Given the description of an element on the screen output the (x, y) to click on. 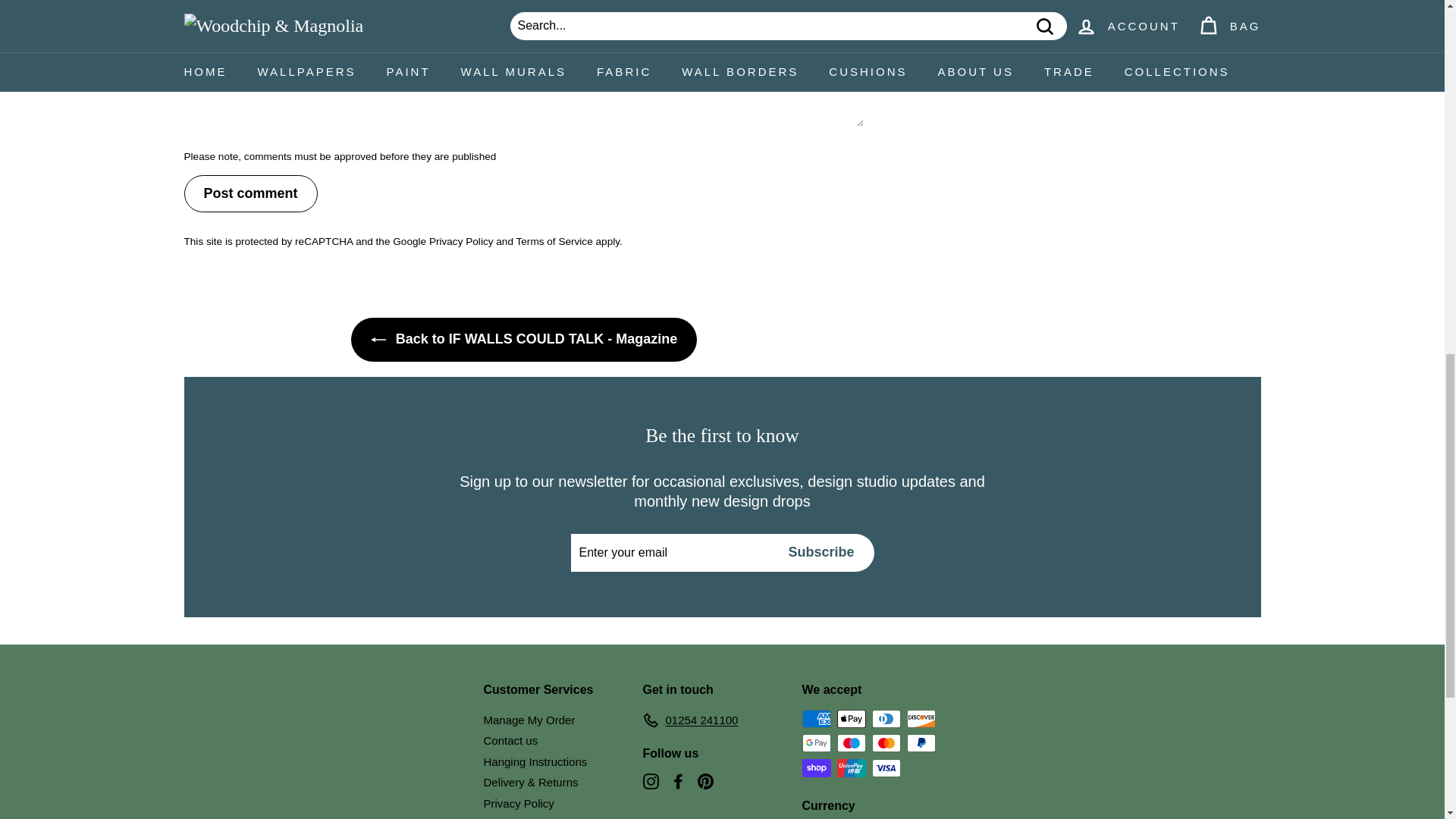
Diners Club (886, 719)
PayPal (921, 742)
Maestro (851, 742)
Mastercard (886, 742)
Apple Pay (851, 719)
American Express (816, 719)
Discover (921, 719)
Google Pay (816, 742)
